Given the description of an element on the screen output the (x, y) to click on. 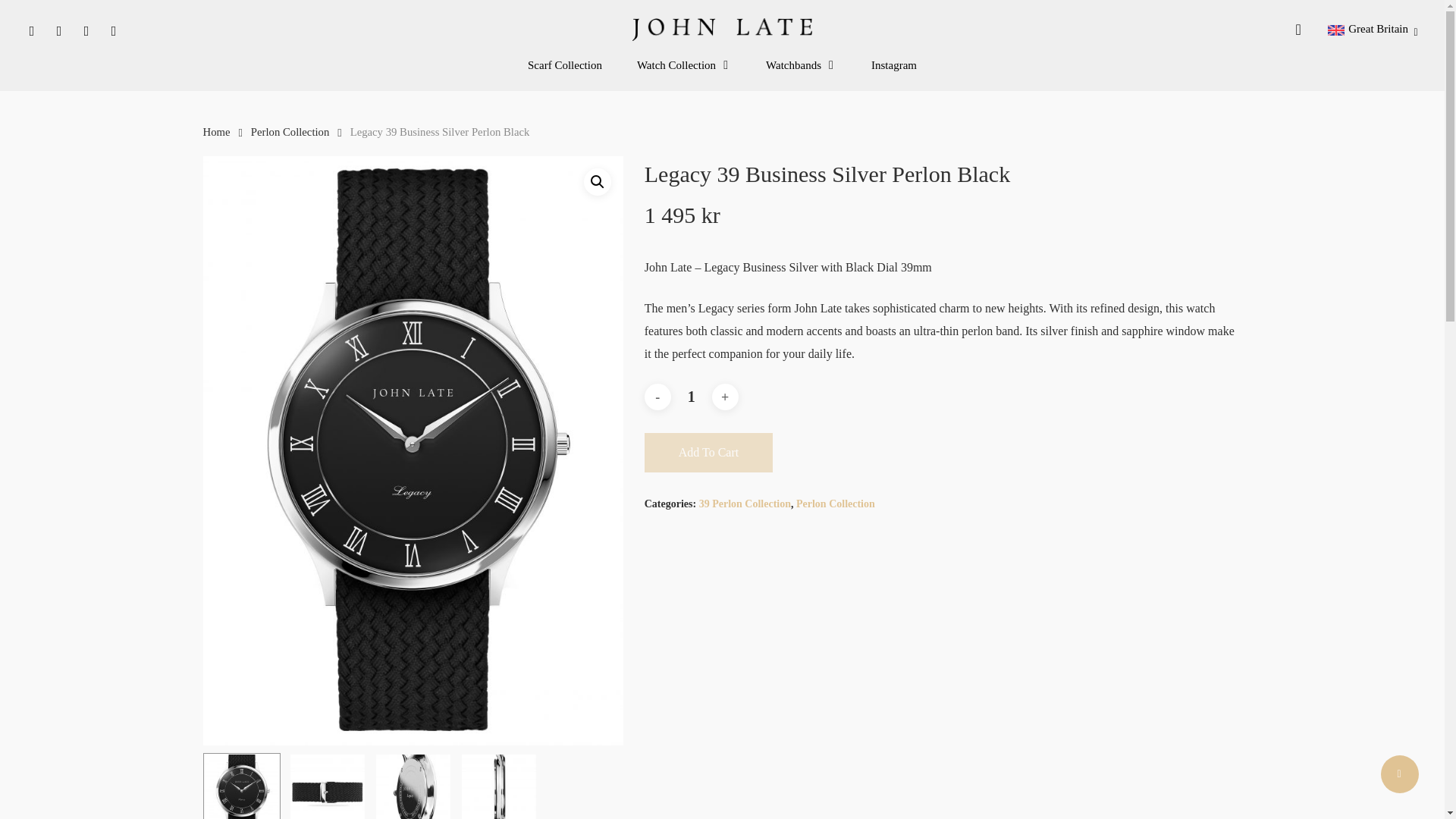
Perlon Collection (289, 131)
Home (216, 131)
Watch Collection (683, 65)
1 (691, 397)
Watchbands (800, 65)
Youtube (86, 29)
Facebook (31, 29)
Great Britain (1375, 28)
Instagram (114, 29)
Scarf Collection (564, 65)
